Given the description of an element on the screen output the (x, y) to click on. 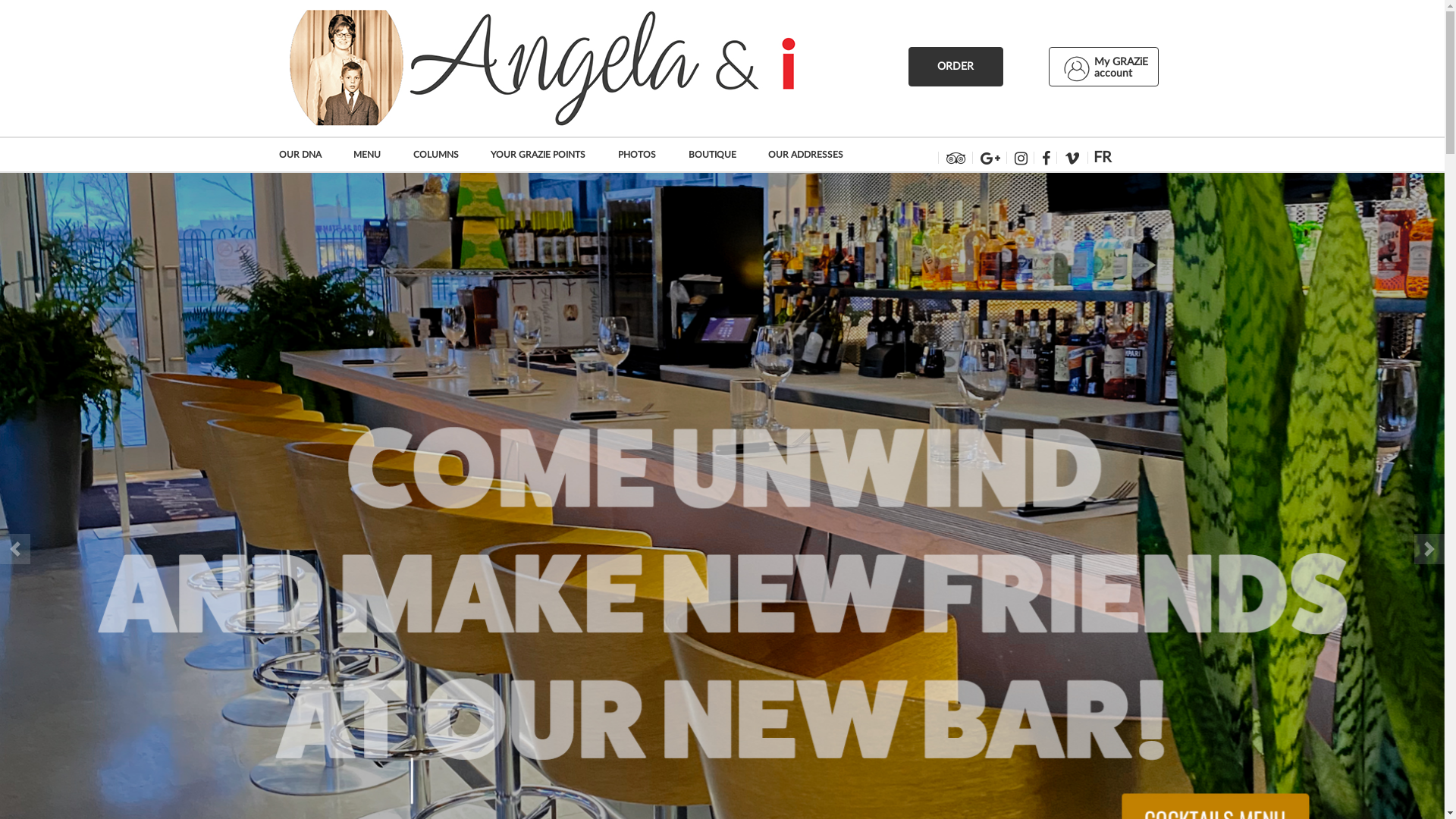
PHOTOS Element type: text (644, 154)
MENU Element type: text (374, 154)
OUR DNA Element type: text (307, 154)
ORDER Element type: text (955, 66)
My GRAZiE
account Element type: text (1102, 66)
Previous Element type: text (15, 548)
COLUMNS Element type: text (443, 154)
Next Element type: text (1429, 548)
FR Element type: text (1102, 157)
YOUR GRAZIE POINTS Element type: text (545, 154)
BOUTIQUE Element type: text (719, 154)
OUR ADDRESSES Element type: text (813, 154)
